Given the description of an element on the screen output the (x, y) to click on. 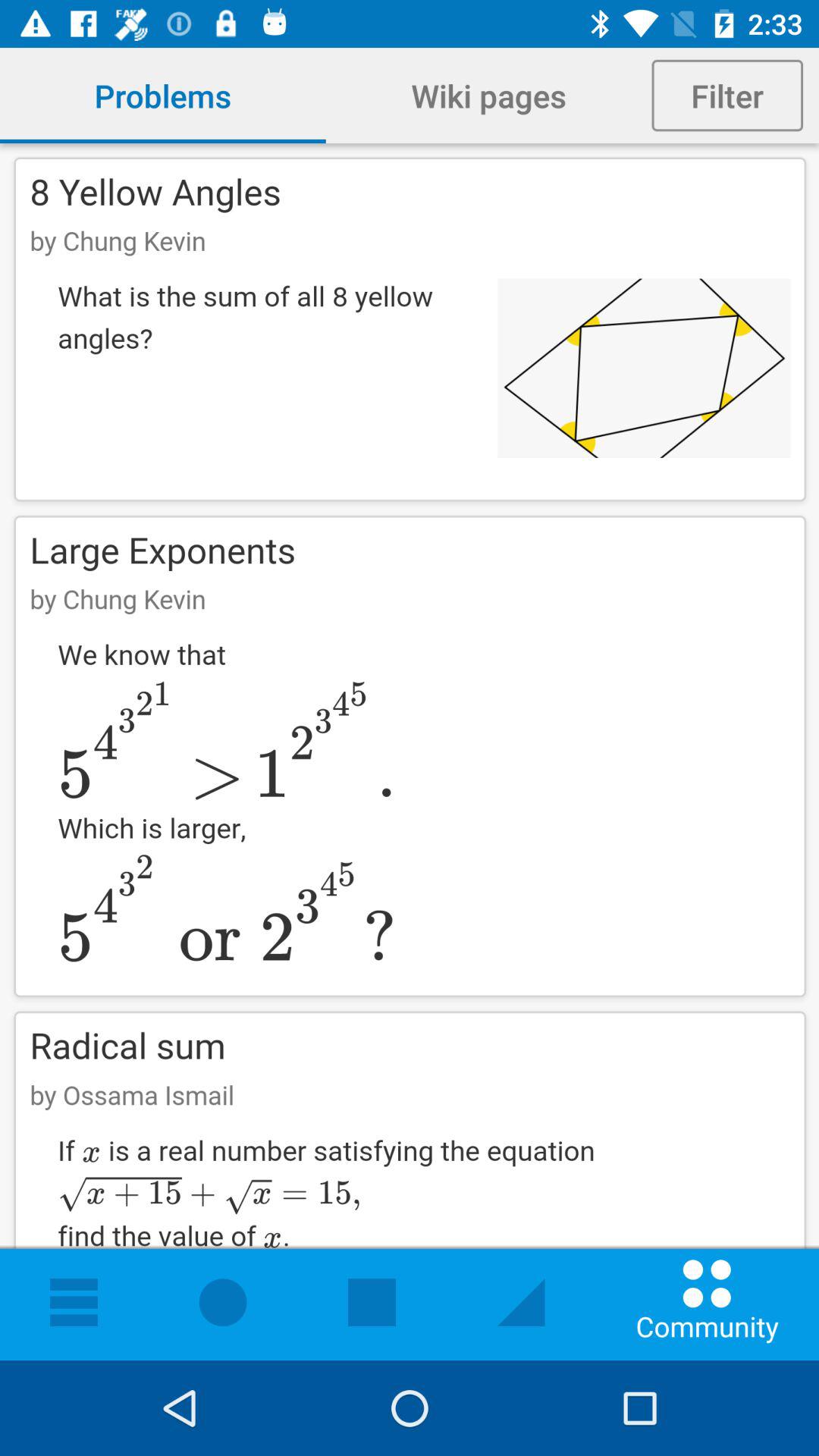
formula page (409, 751)
